Given the description of an element on the screen output the (x, y) to click on. 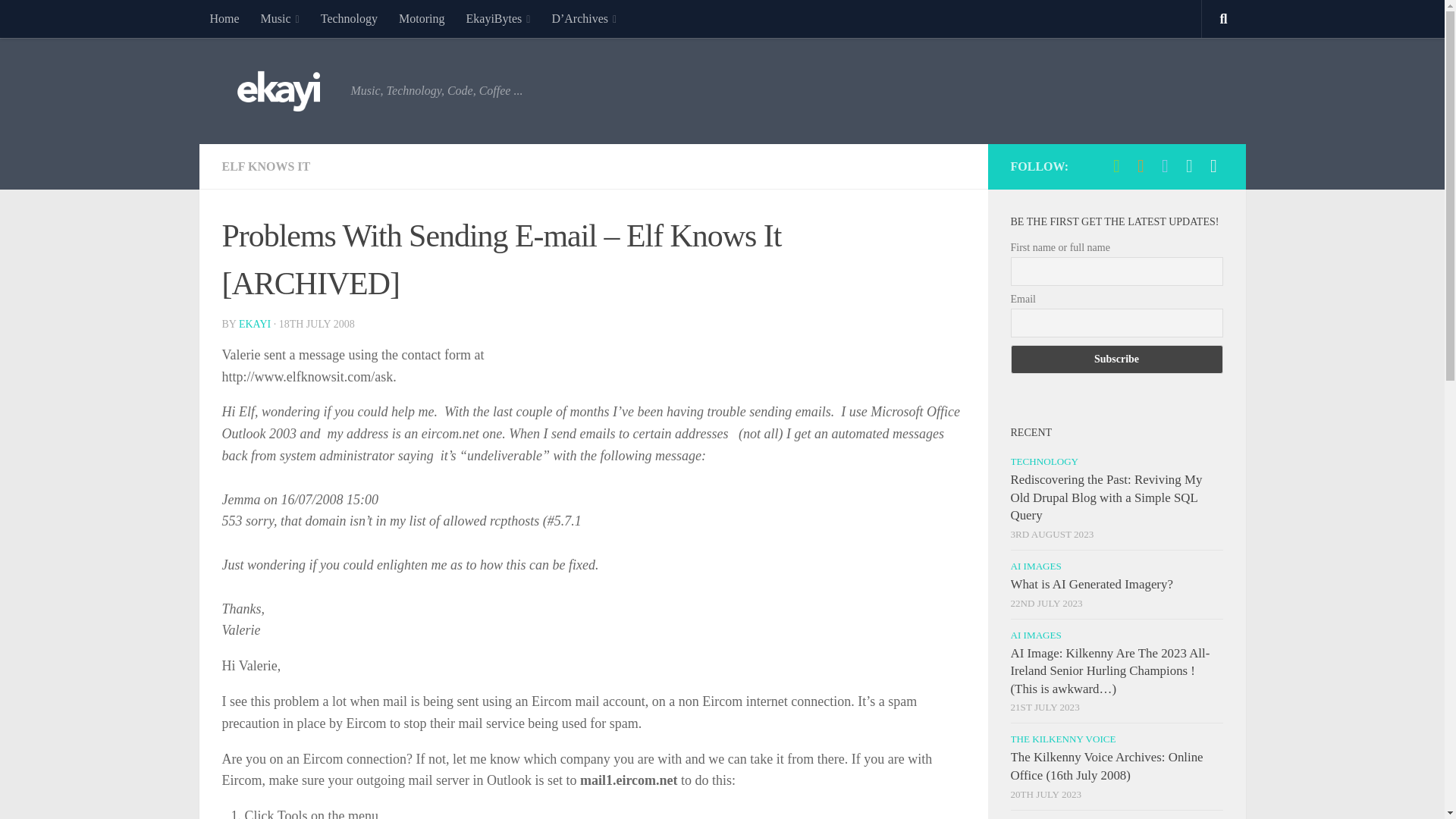
Music (280, 18)
ELF KNOWS IT (265, 165)
Follow us on Youtube (1140, 166)
Subscribe (1116, 358)
Follow me on Spotify (1115, 166)
Posts by ekayi (254, 324)
Follow us on Linkedin-in (1188, 166)
Skip to content (59, 20)
Follow us on Facebook (1213, 166)
Home (223, 18)
Follow us on Twitter (1164, 166)
Technology (349, 18)
EkayiBytes (497, 18)
Motoring (421, 18)
EKAYI (254, 324)
